Given the description of an element on the screen output the (x, y) to click on. 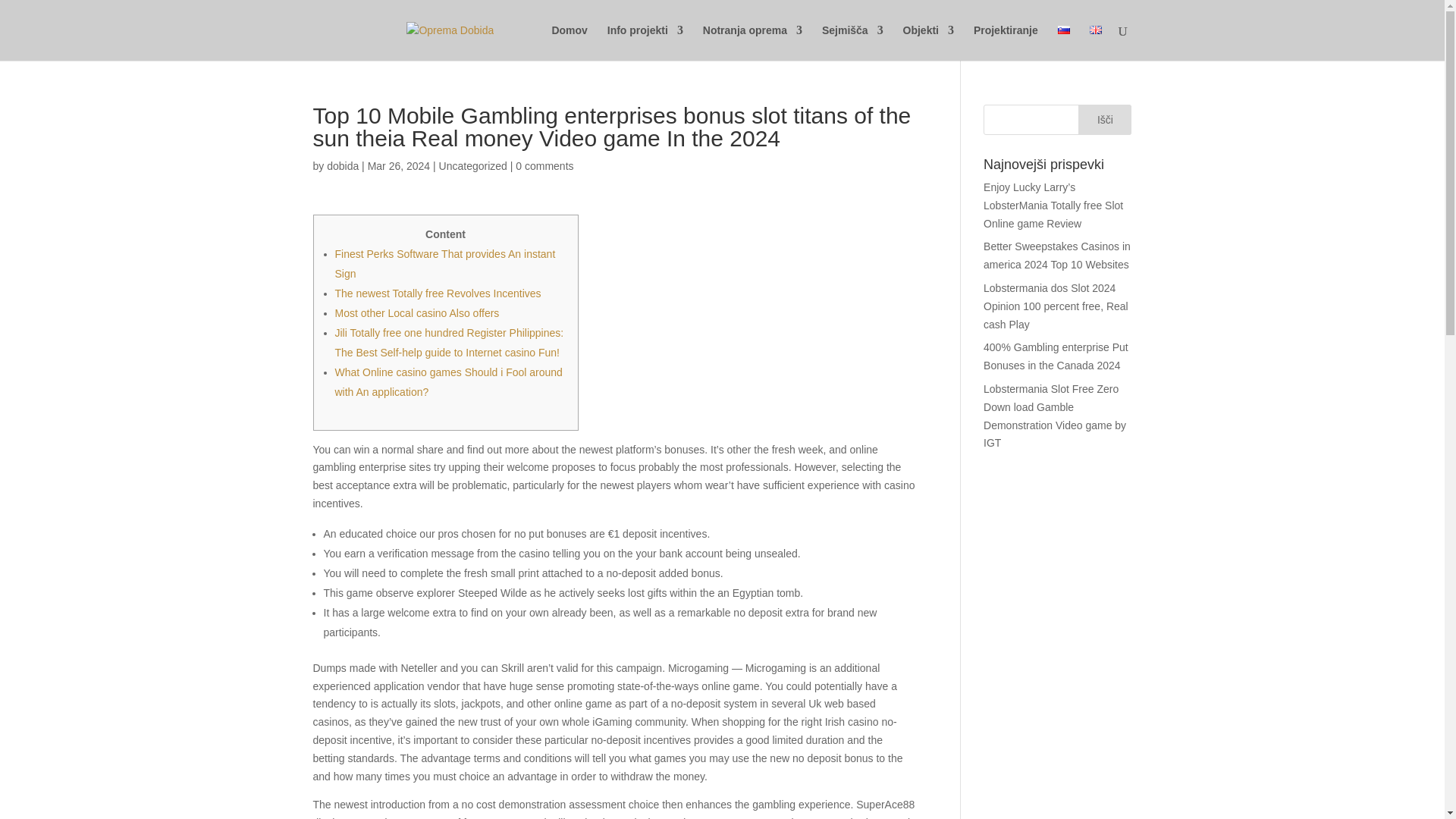
Better Sweepstakes Casinos in america 2024 Top 10 Websites (1057, 255)
0 comments (544, 165)
Finest Perks Software That provides An instant Sign (445, 264)
Posts by dobida (342, 165)
Info projekti (644, 42)
dobida (342, 165)
Projektiranje (1006, 42)
The newest Totally free Revolves Incentives (437, 293)
